Given the description of an element on the screen output the (x, y) to click on. 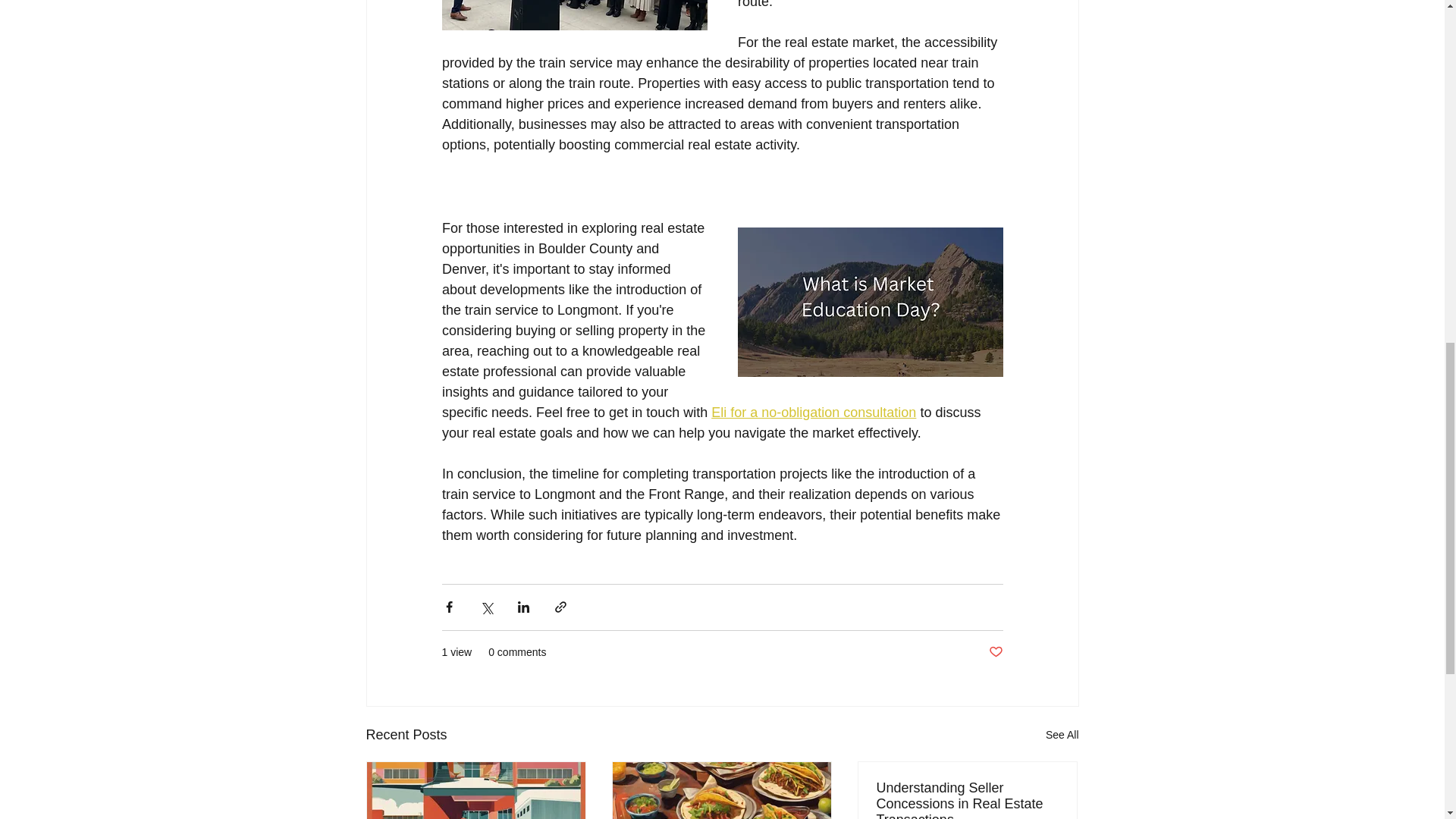
Eli for a no-obligation consultation (813, 412)
Understanding Seller Concessions in Real Estate Transactions (967, 799)
See All (1061, 734)
Post not marked as liked (995, 652)
